Given the description of an element on the screen output the (x, y) to click on. 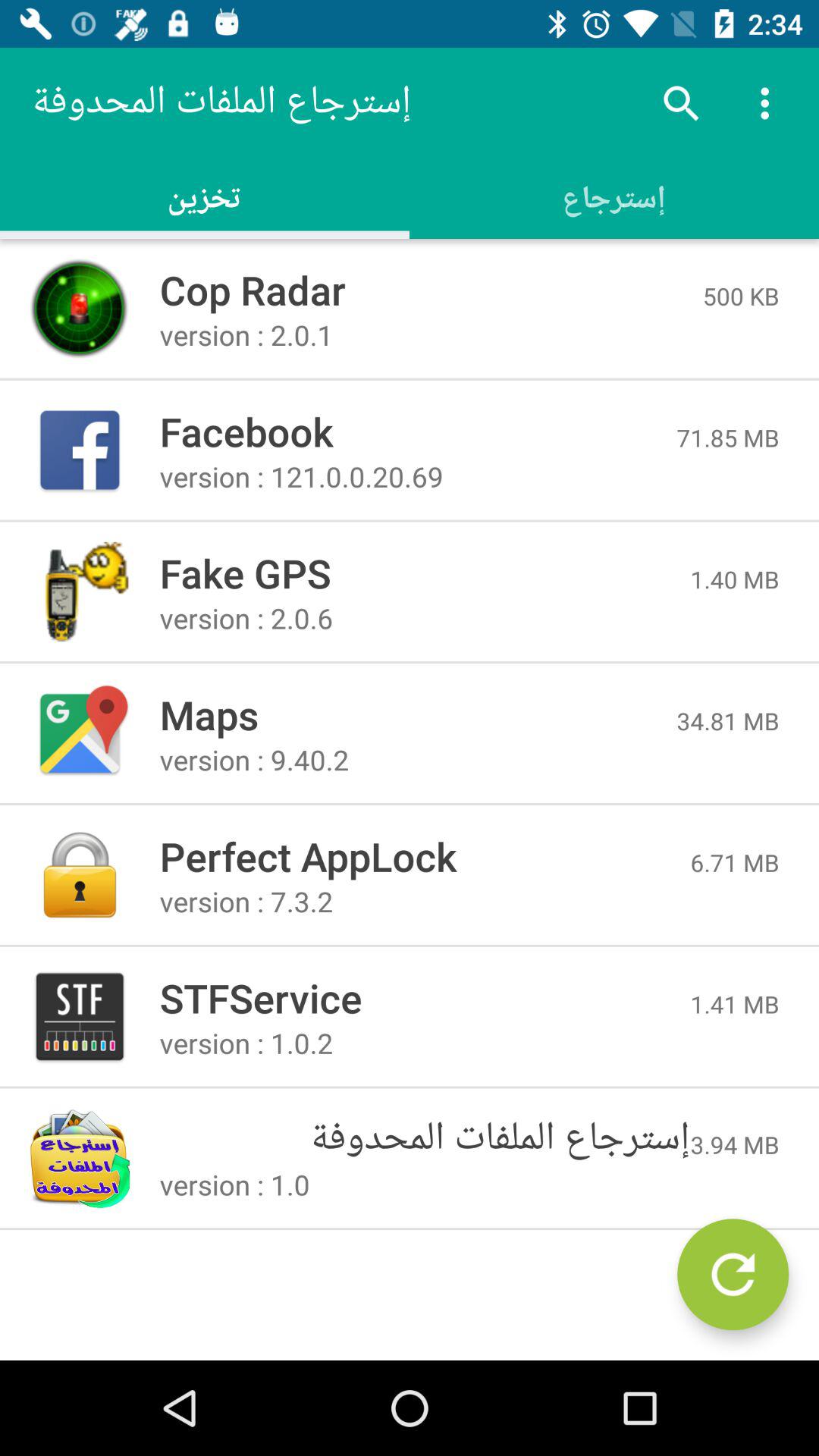
turn on facebook item (417, 430)
